Given the description of an element on the screen output the (x, y) to click on. 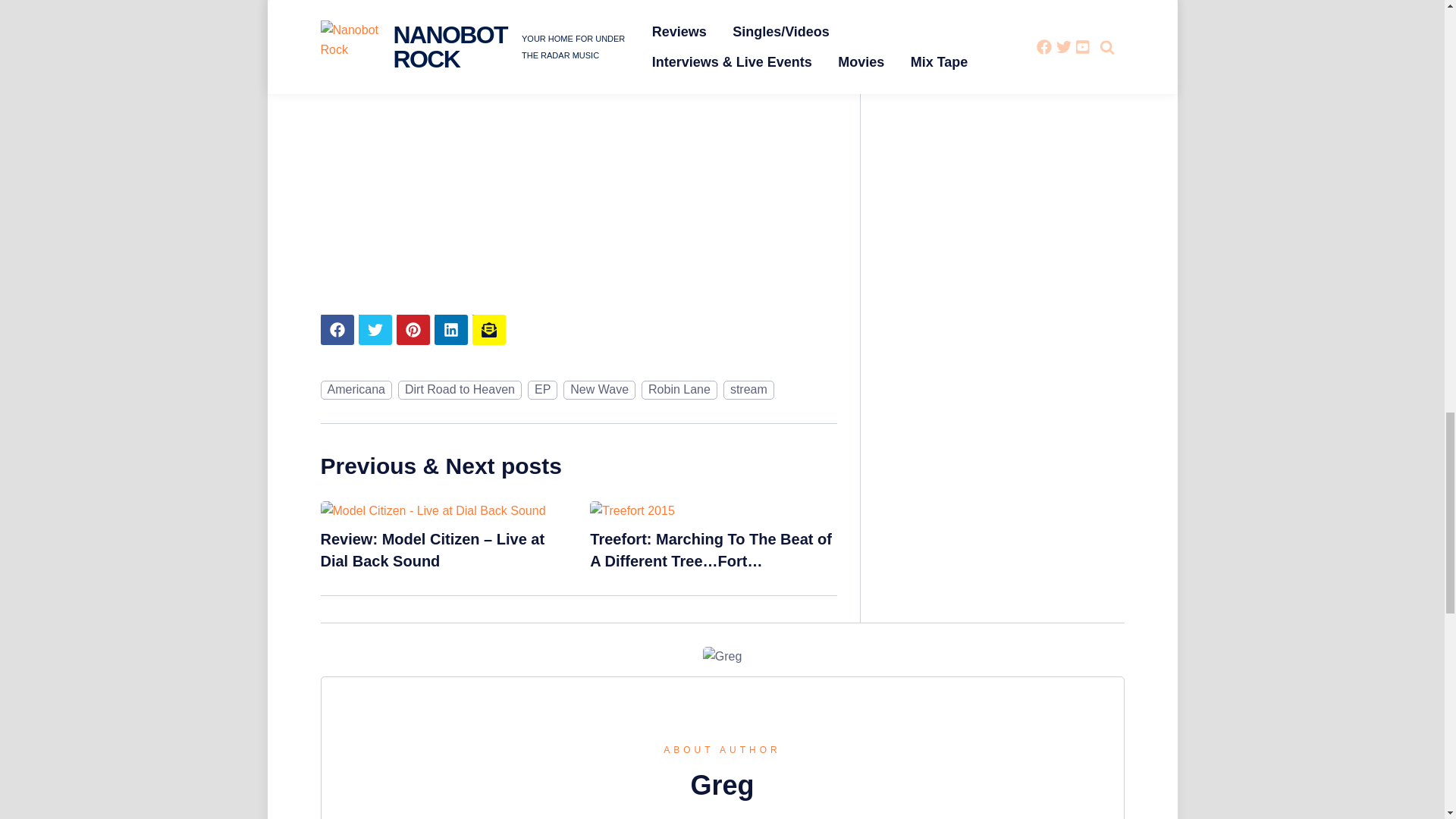
Robin Lane (679, 389)
Treefort: Marching To The Beat of A Different Tree...Fort... (710, 549)
Treefort: Marching To The Beat of A Different Tree...Fort... (631, 510)
Americana (355, 389)
stream (748, 389)
New Wave (598, 389)
Dirt Road to Heaven (459, 389)
EP (542, 389)
